Given the description of an element on the screen output the (x, y) to click on. 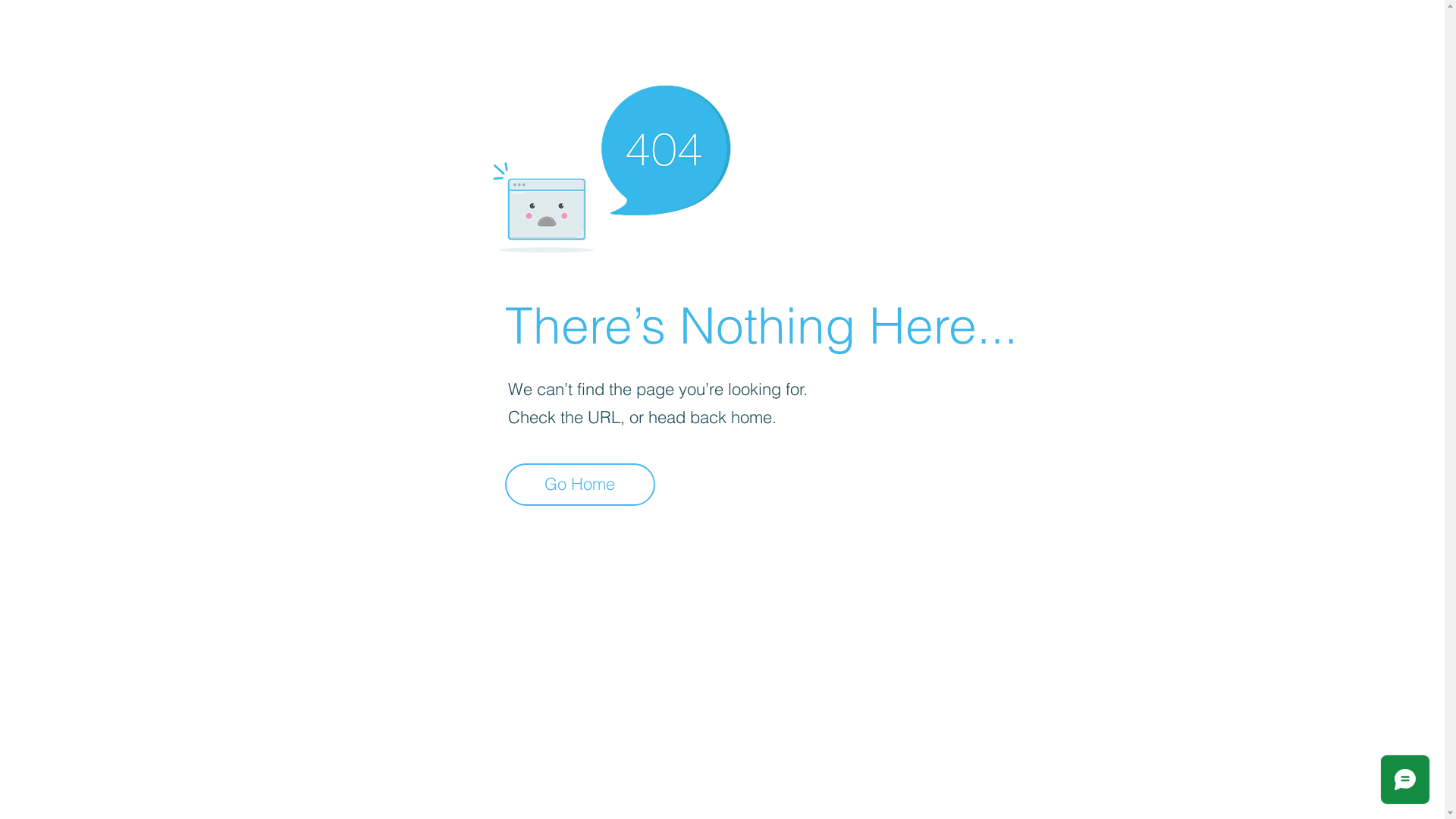
404-icon_2.png Element type: hover (610, 164)
Go Home Element type: text (580, 484)
